Given the description of an element on the screen output the (x, y) to click on. 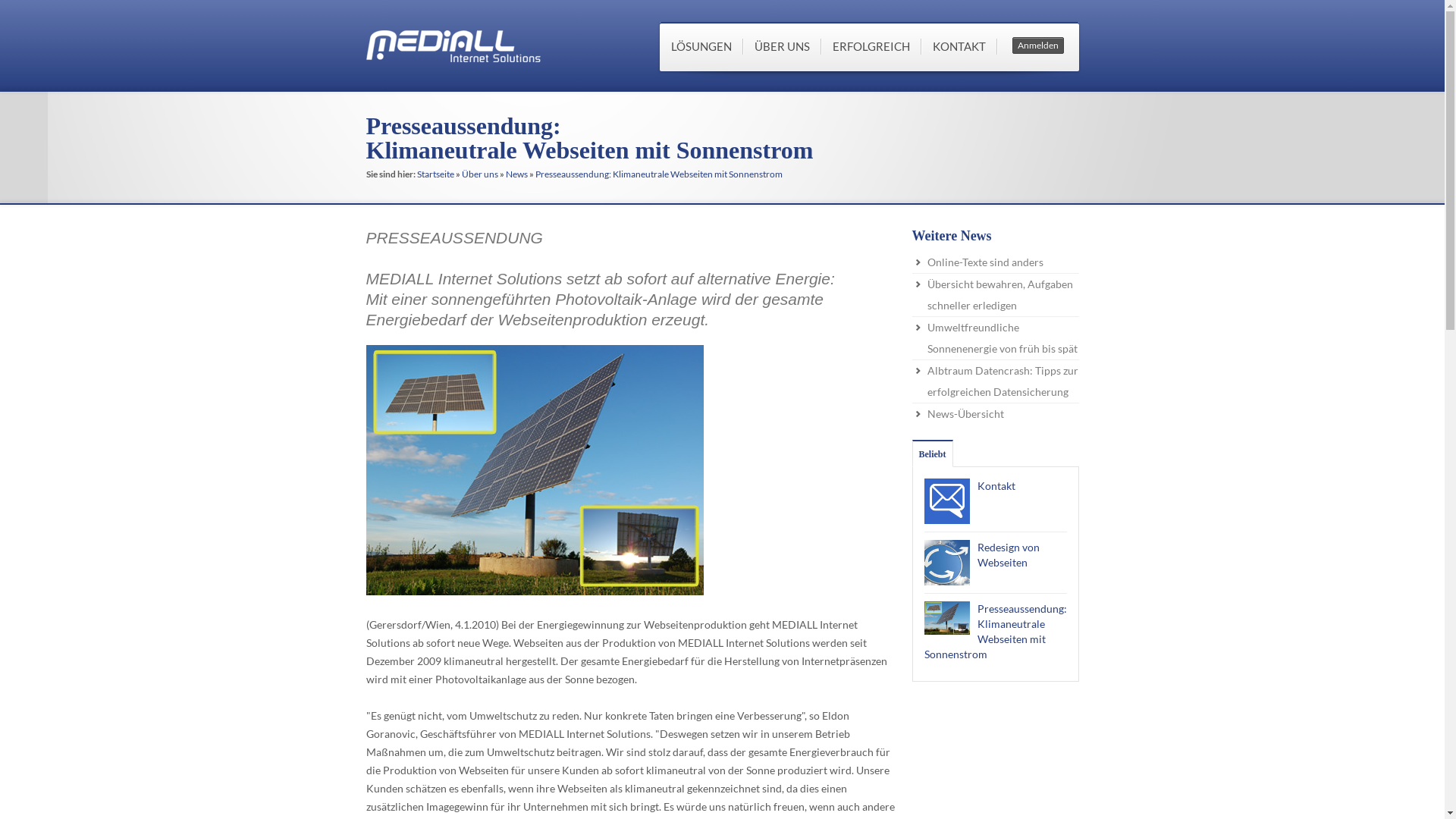
Anmelden Element type: text (1037, 45)
News Element type: text (516, 173)
Presseaussendung: Klimaneutrale Webseiten mit Sonnenstrom Element type: text (658, 173)
ERFOLGREICH Element type: text (870, 46)
Startseite Element type: text (435, 173)
Weitere News Element type: text (951, 235)
KONTAKT Element type: text (958, 46)
Presseaussendung: Klimaneutrale Webseiten mit Sonnenstrom Element type: text (994, 631)
MEDIALL INTERNET SOLUTIONS Element type: text (452, 46)
Kontakt Element type: text (995, 485)
Beliebt Element type: text (932, 453)
Albtraum Datencrash: Tipps zur erfolgreichen Datensicherung Element type: text (1001, 381)
Online-Texte sind anders Element type: text (984, 261)
Redesign von Webseiten Element type: text (1007, 554)
